Given the description of an element on the screen output the (x, y) to click on. 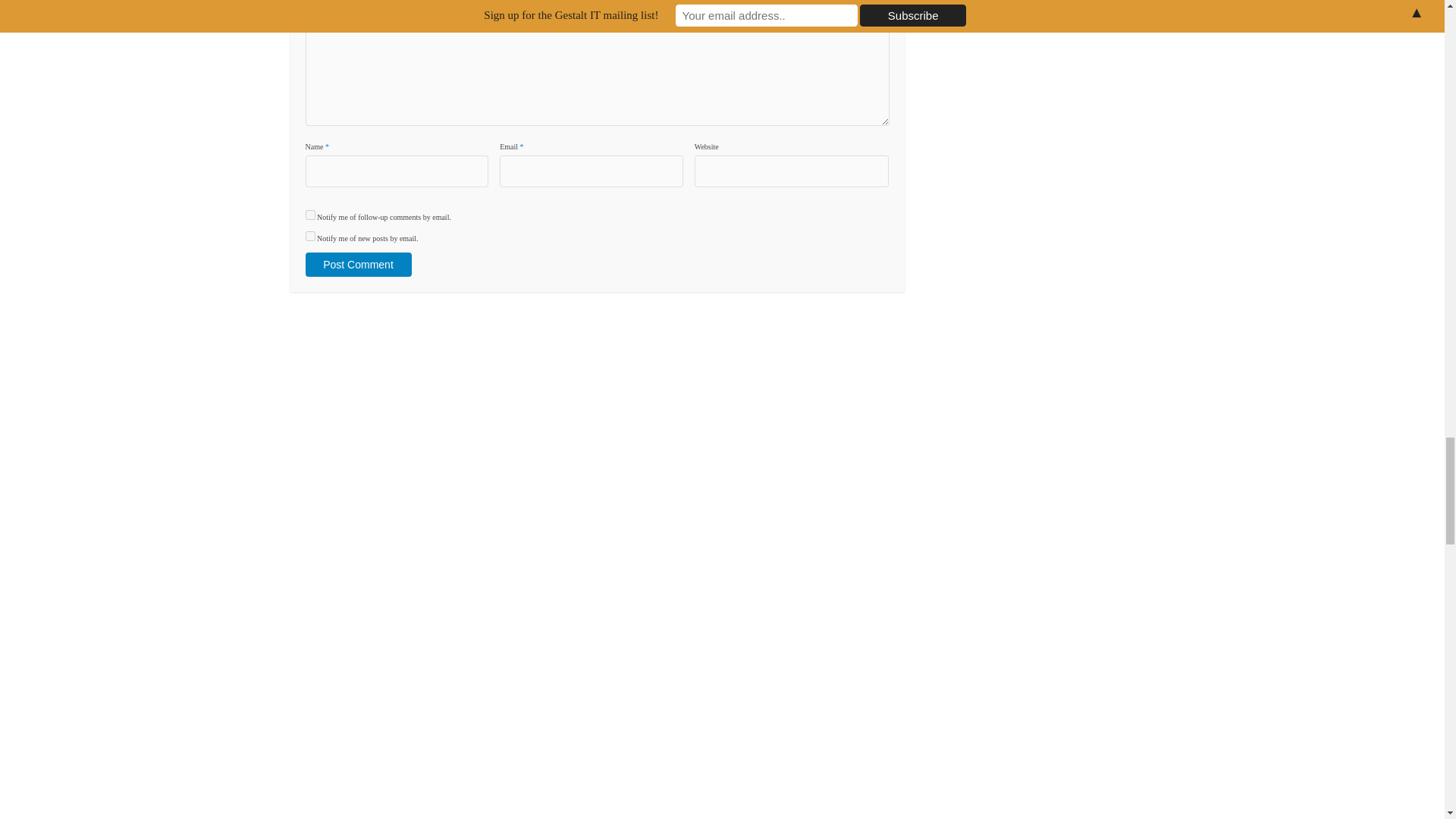
subscribe (309, 235)
subscribe (309, 214)
Post Comment (357, 264)
